Given the description of an element on the screen output the (x, y) to click on. 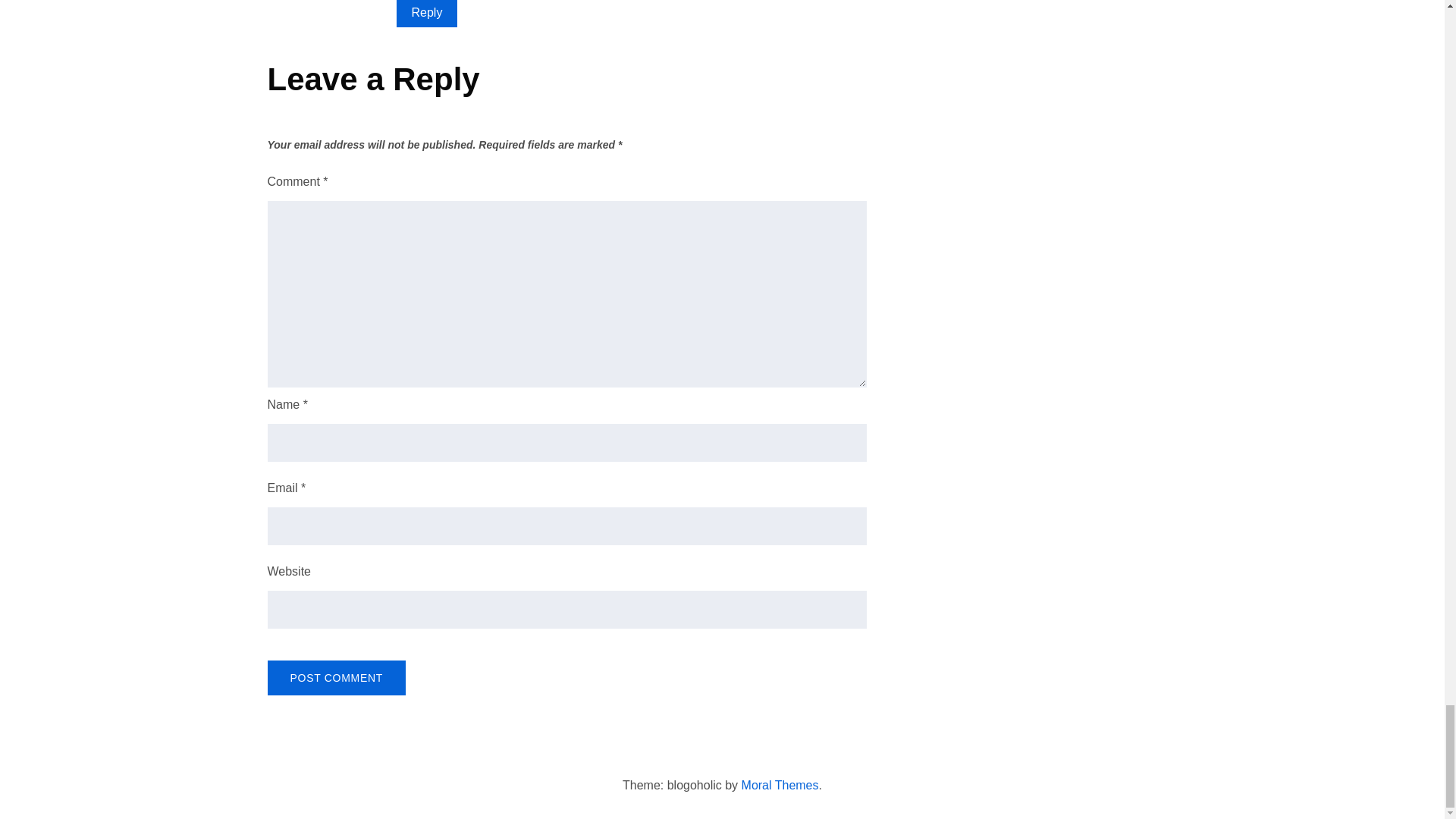
Post Comment (335, 677)
